Given the description of an element on the screen output the (x, y) to click on. 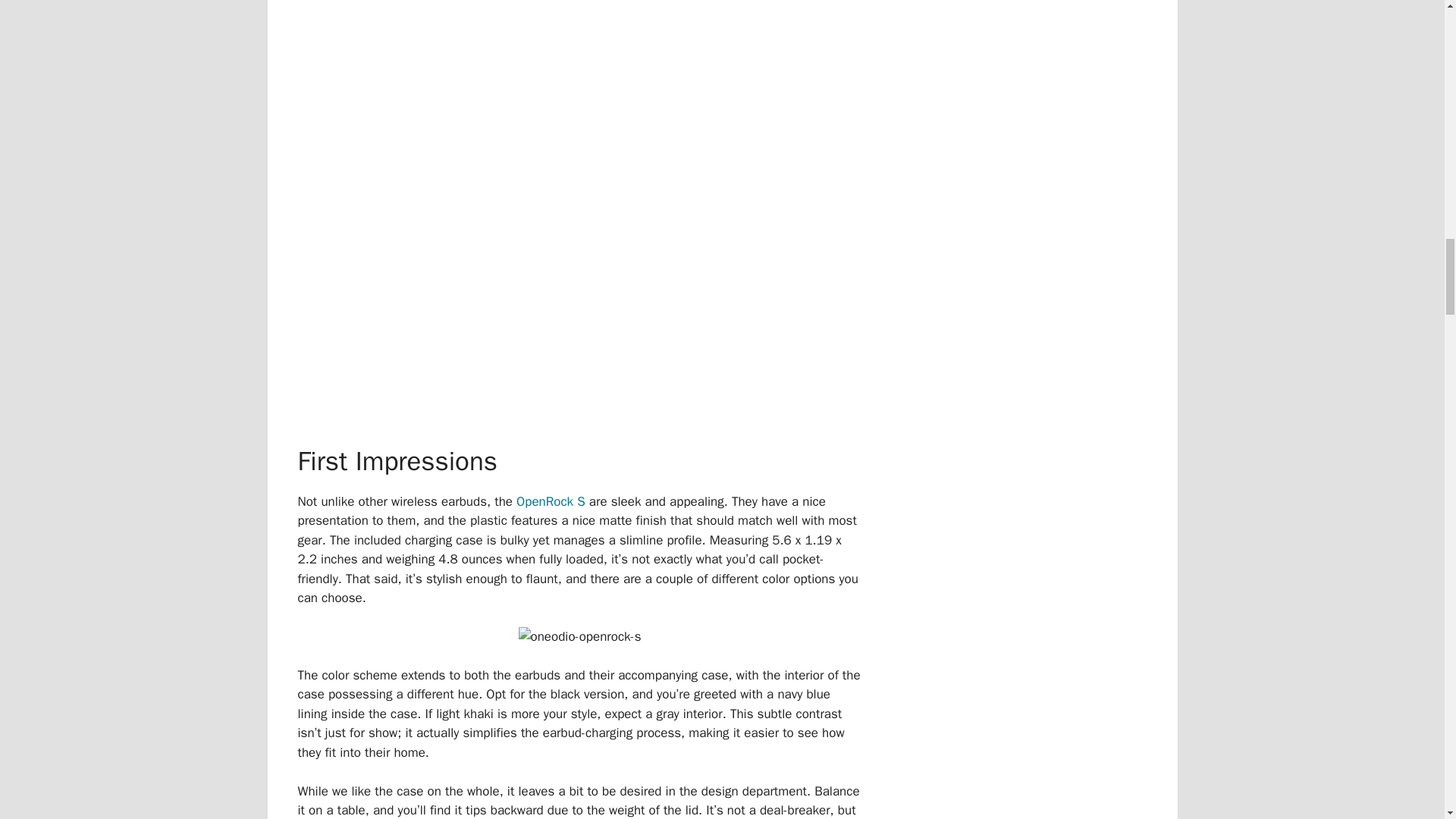
OpenRock S (550, 501)
